Given the description of an element on the screen output the (x, y) to click on. 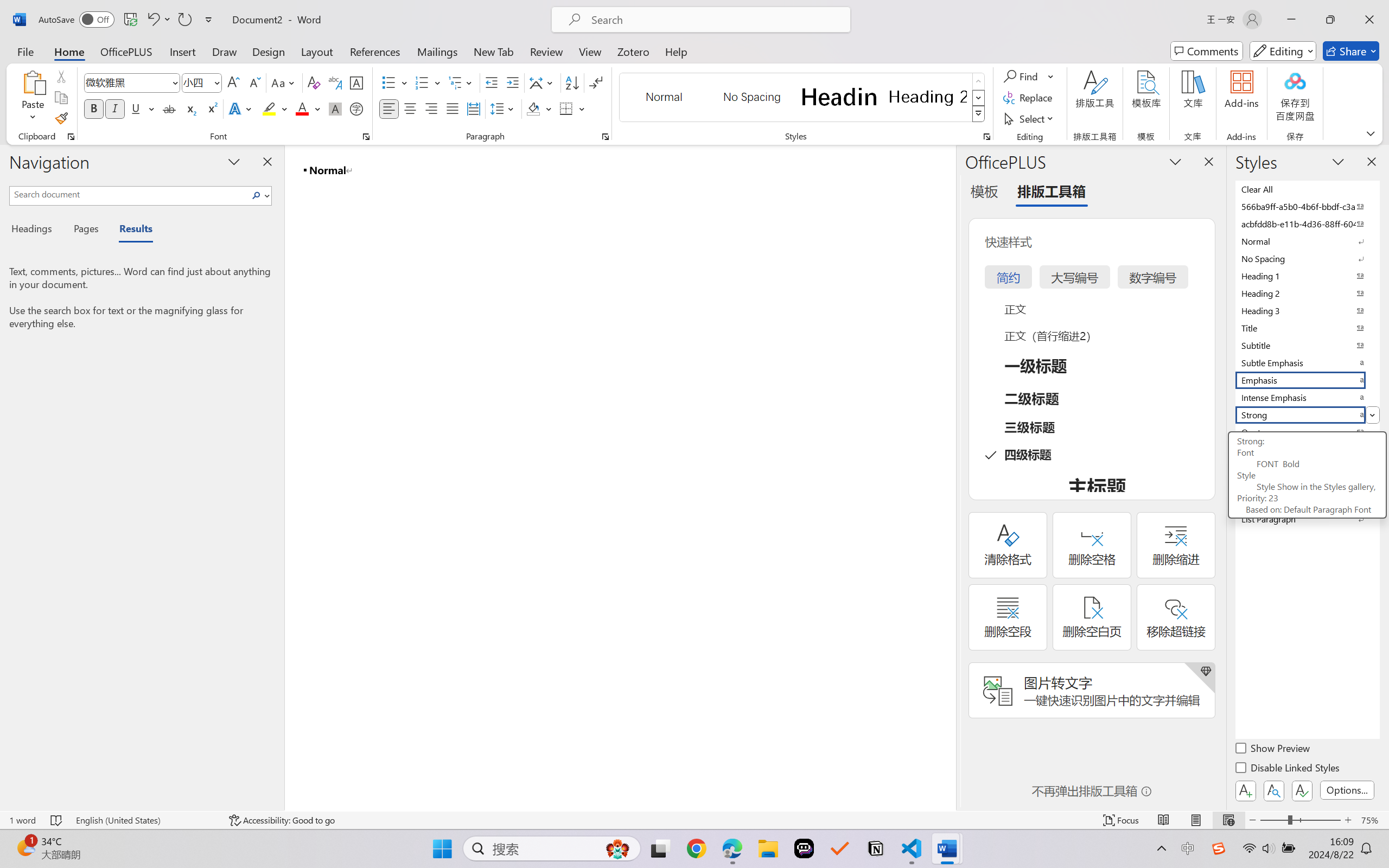
Shading RGB(0, 0, 0) (533, 108)
Italic (115, 108)
Borders (571, 108)
Text Highlight Color Yellow (269, 108)
Search (256, 195)
Draw (224, 51)
Heading 3 (1306, 310)
Character Shading (334, 108)
Customize Quick Access Toolbar (208, 19)
